Given the description of an element on the screen output the (x, y) to click on. 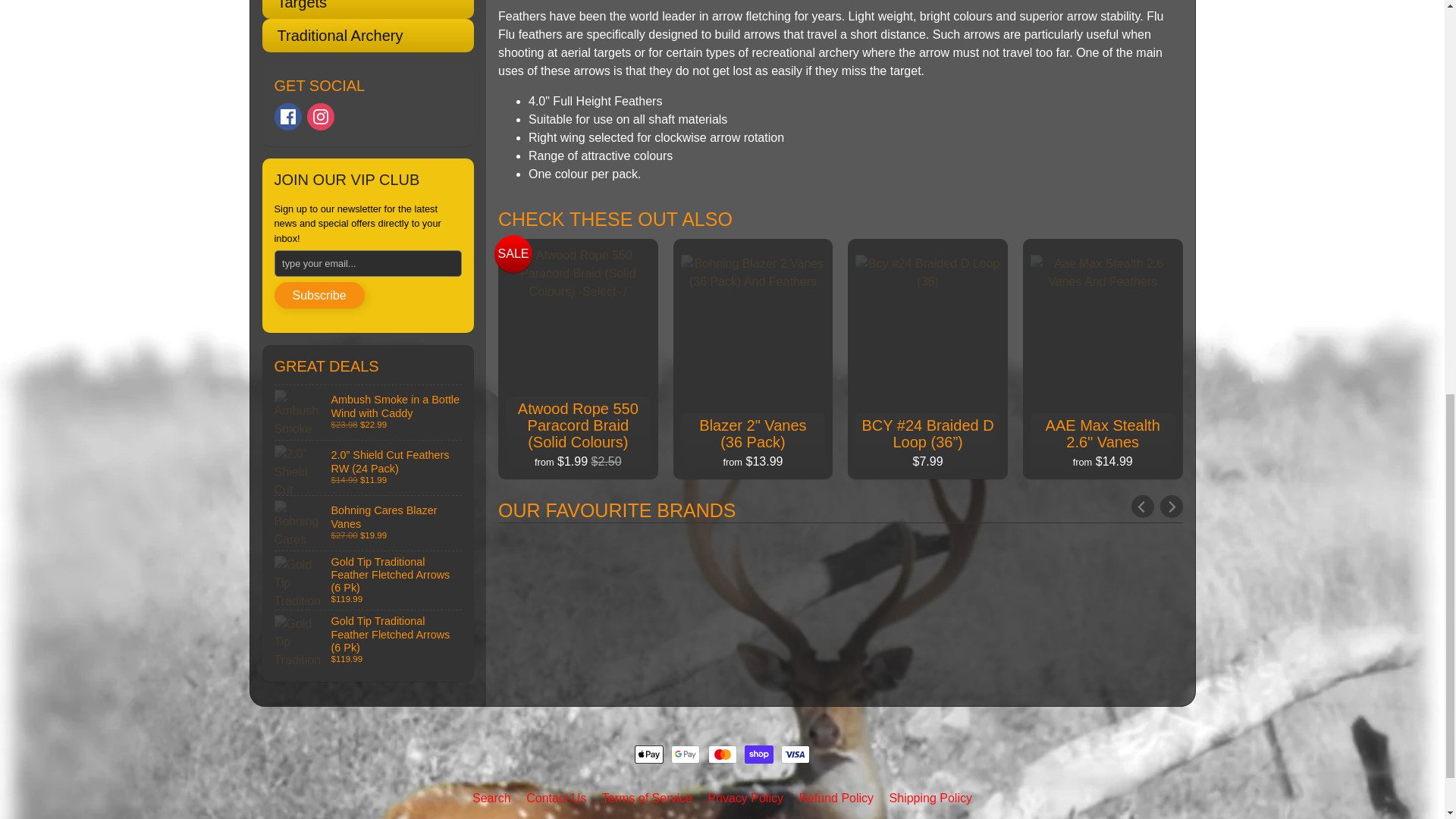
Google Pay (685, 754)
Mastercard (721, 754)
Instagram (320, 116)
Facebook (288, 116)
Apple Pay (648, 754)
Ambush Smoke in a Bottle Wind with Caddy (369, 411)
Shop Pay (758, 754)
Visa (794, 754)
Bohning Cares Blazer Vanes (369, 523)
